Given the description of an element on the screen output the (x, y) to click on. 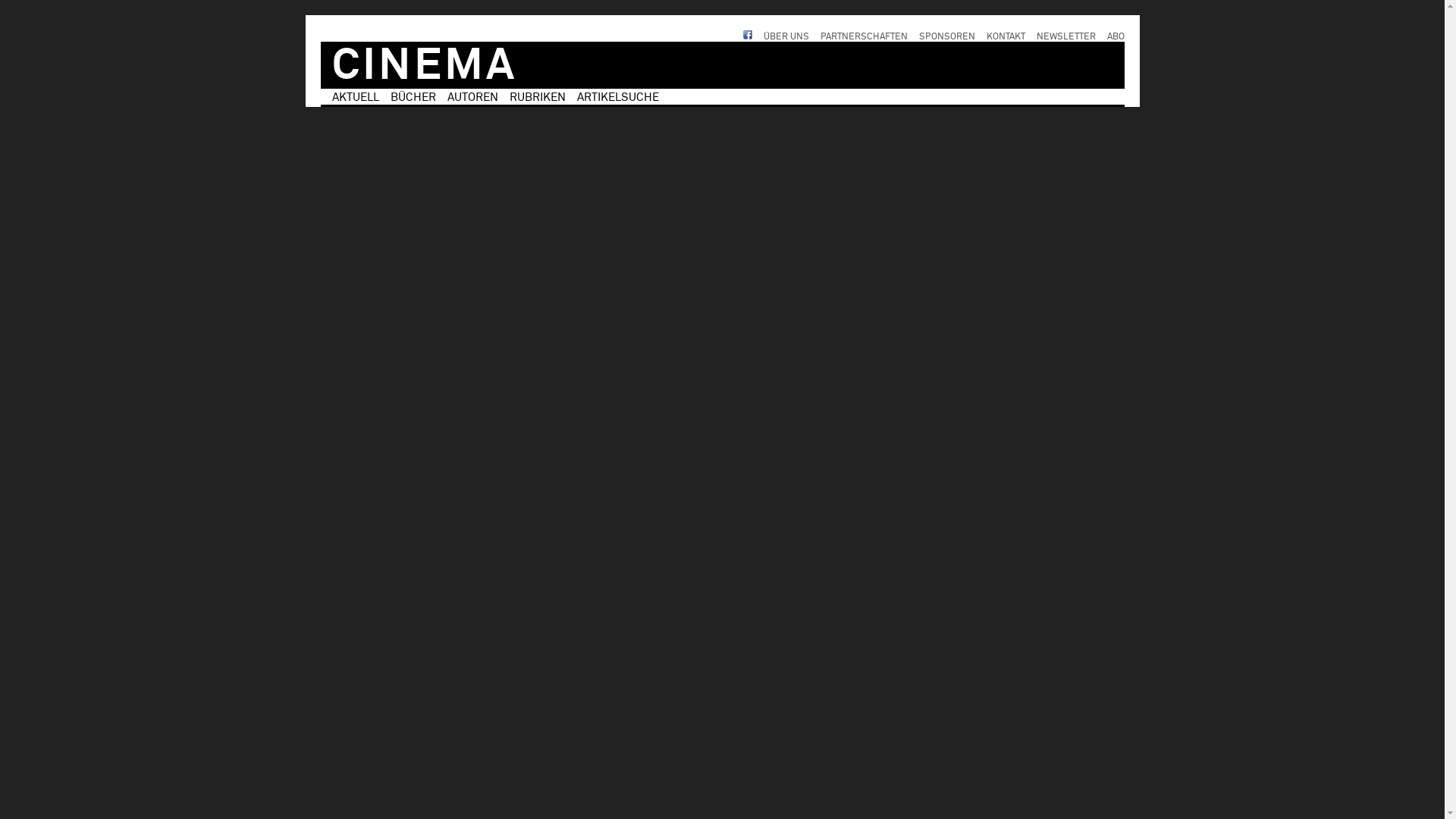
NEWSLETTER Element type: text (1065, 36)
SPONSOREN Element type: text (947, 36)
ARTIKELSUCHE Element type: text (617, 97)
RUBRIKEN Element type: text (537, 97)
AKTUELL Element type: text (355, 97)
PARTNERSCHAFTEN Element type: text (863, 36)
AUTOREN Element type: text (472, 97)
KONTAKT Element type: text (1004, 36)
ABO Element type: text (1115, 36)
